Given the description of an element on the screen output the (x, y) to click on. 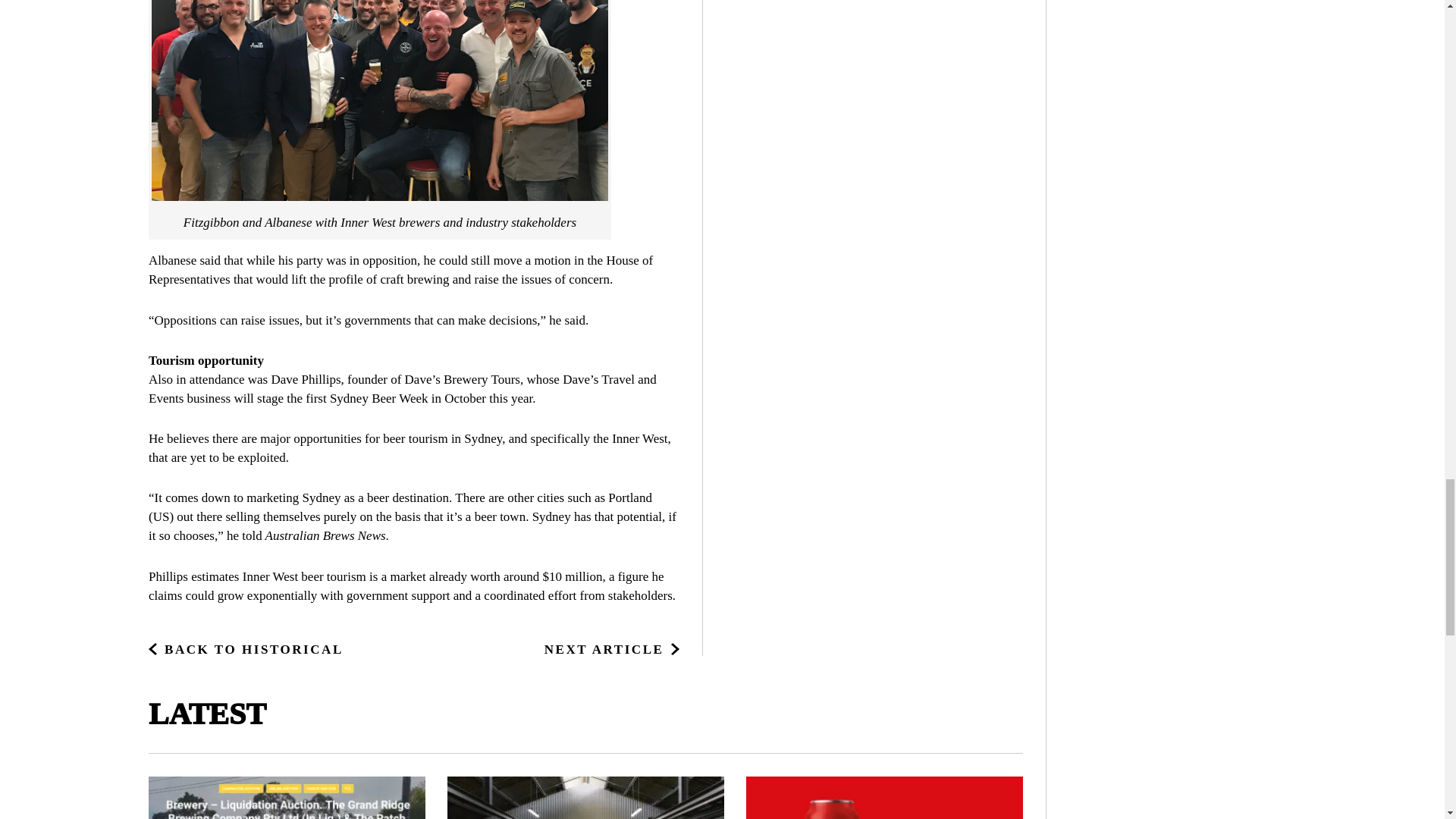
BACK TO HISTORICAL (245, 649)
NEXT ARTICLE (611, 649)
